Given the description of an element on the screen output the (x, y) to click on. 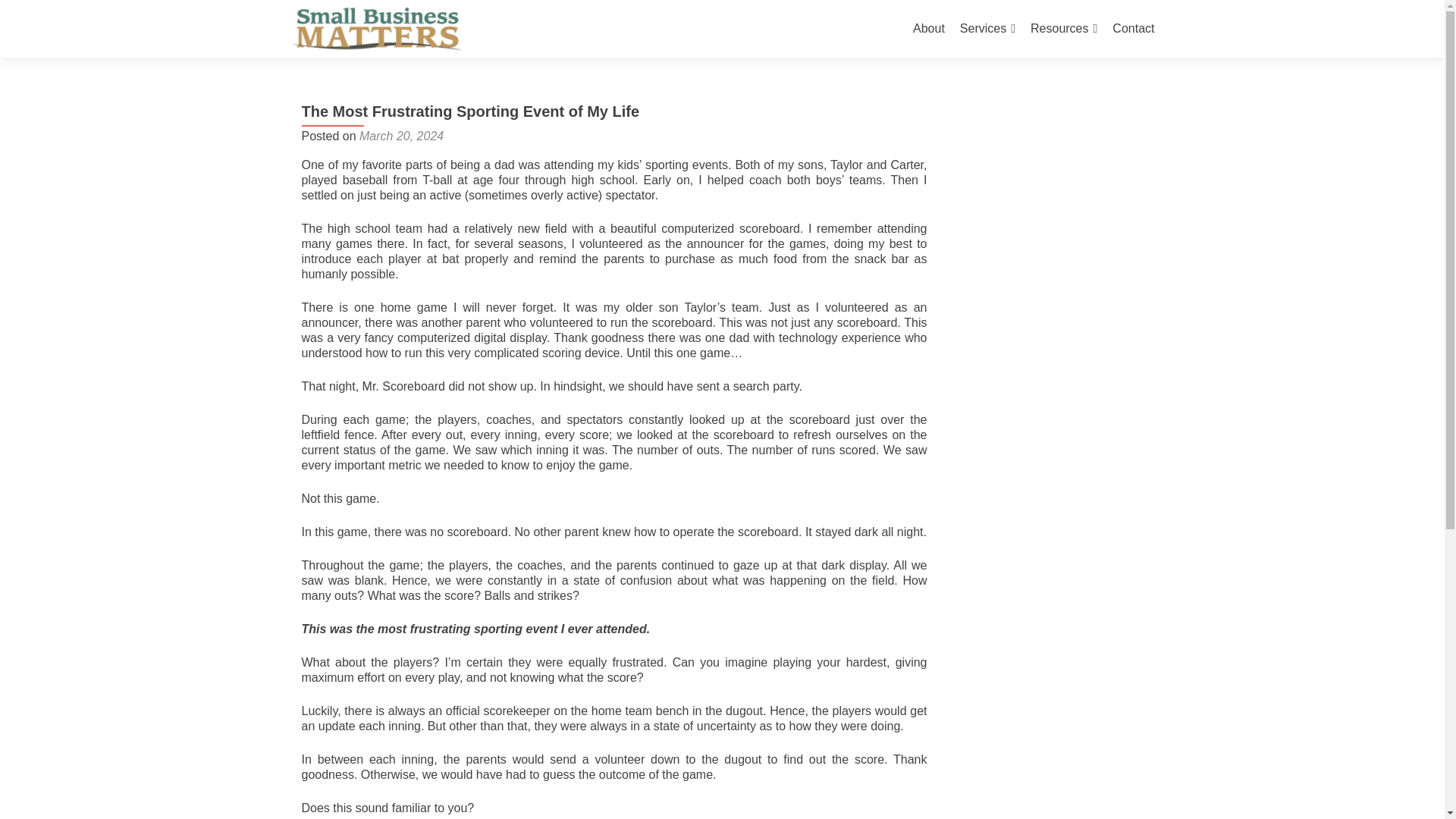
March 20, 2024 (401, 135)
Contact (1133, 28)
Resources (1063, 28)
Services (986, 28)
About (928, 28)
